Given the description of an element on the screen output the (x, y) to click on. 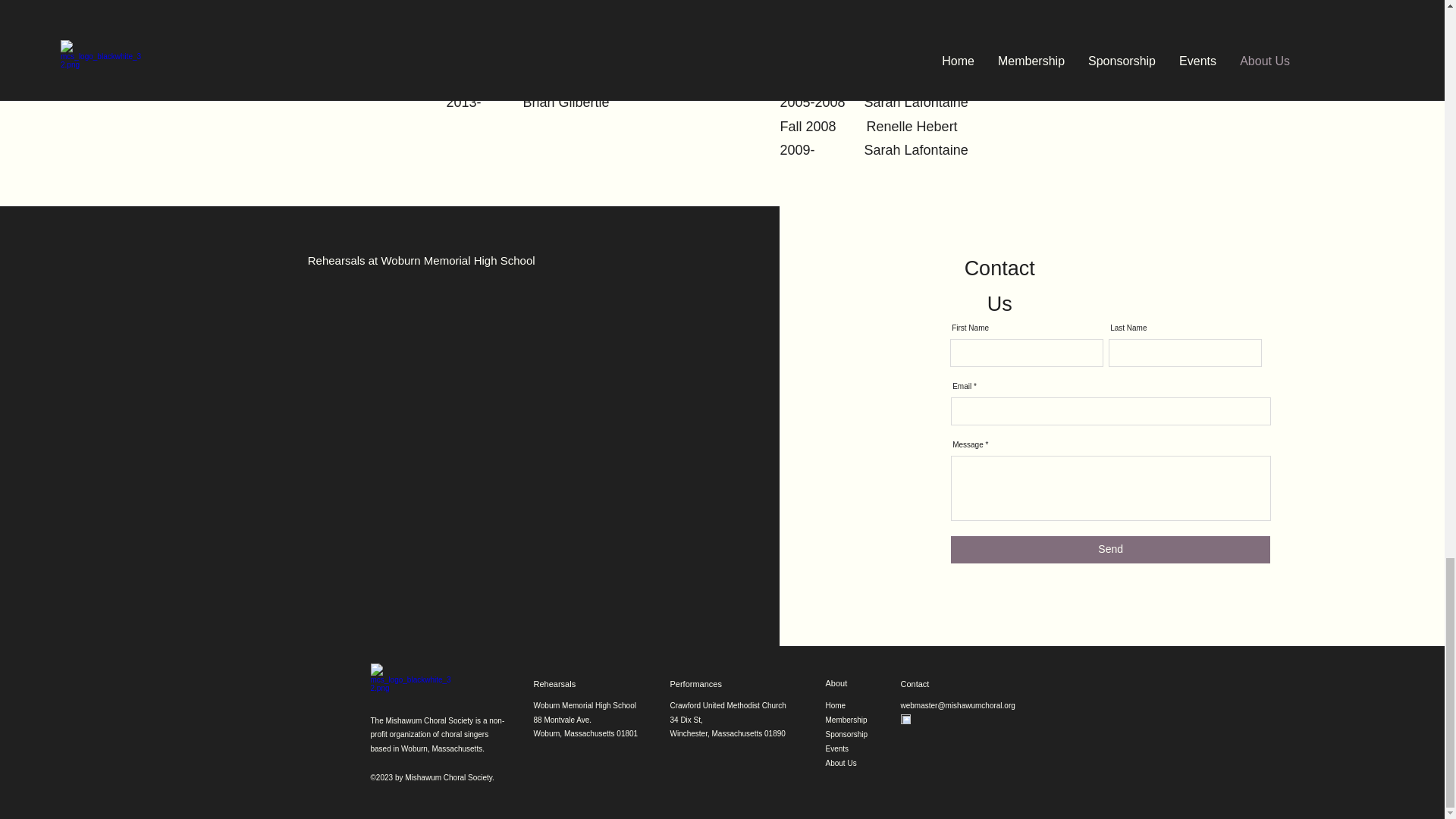
Sponsorship (846, 734)
Membership (845, 719)
Send (1109, 549)
About Us (840, 763)
Home (835, 705)
Events (836, 748)
